Given the description of an element on the screen output the (x, y) to click on. 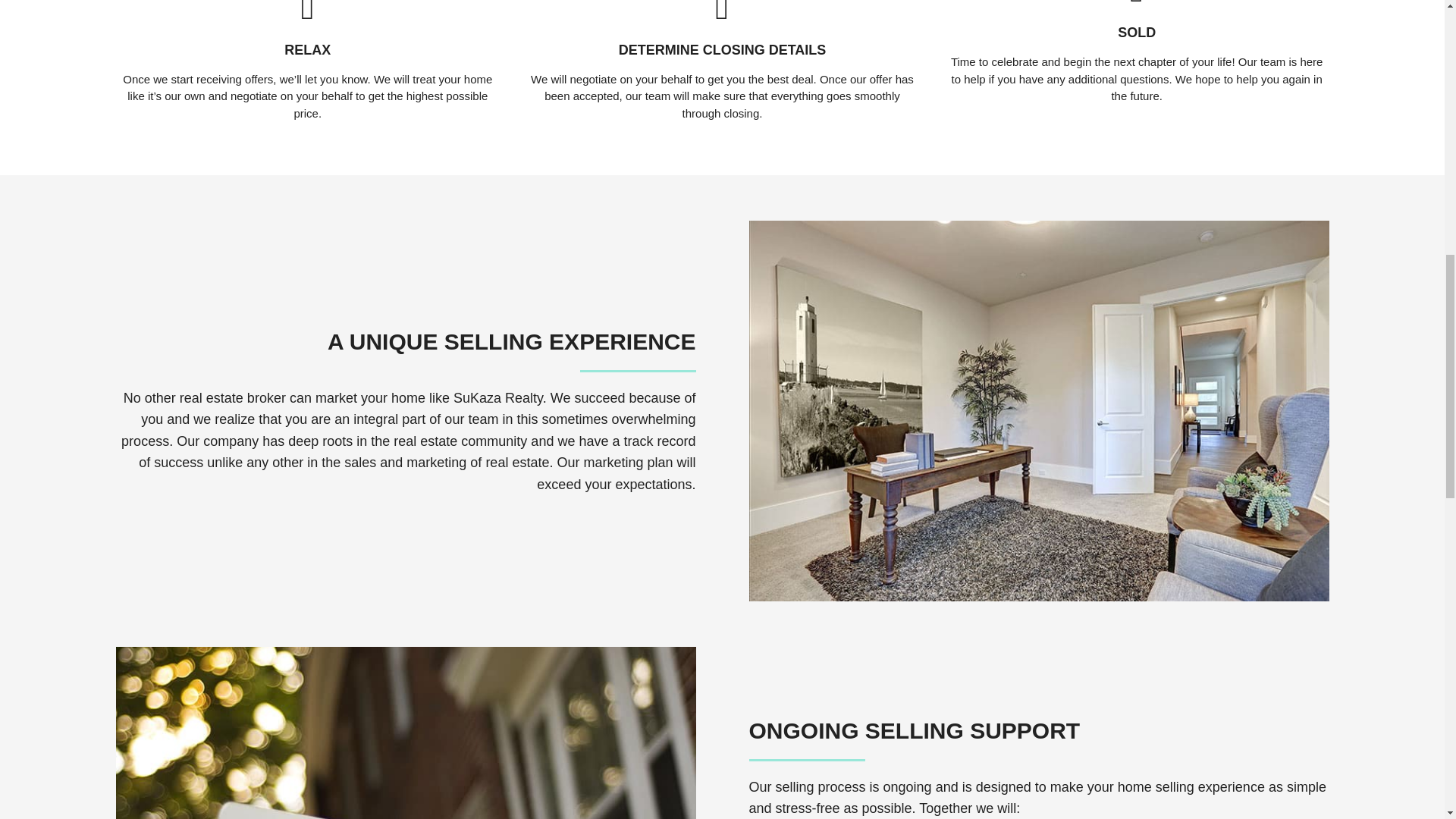
page-image-7 (405, 733)
